Given the description of an element on the screen output the (x, y) to click on. 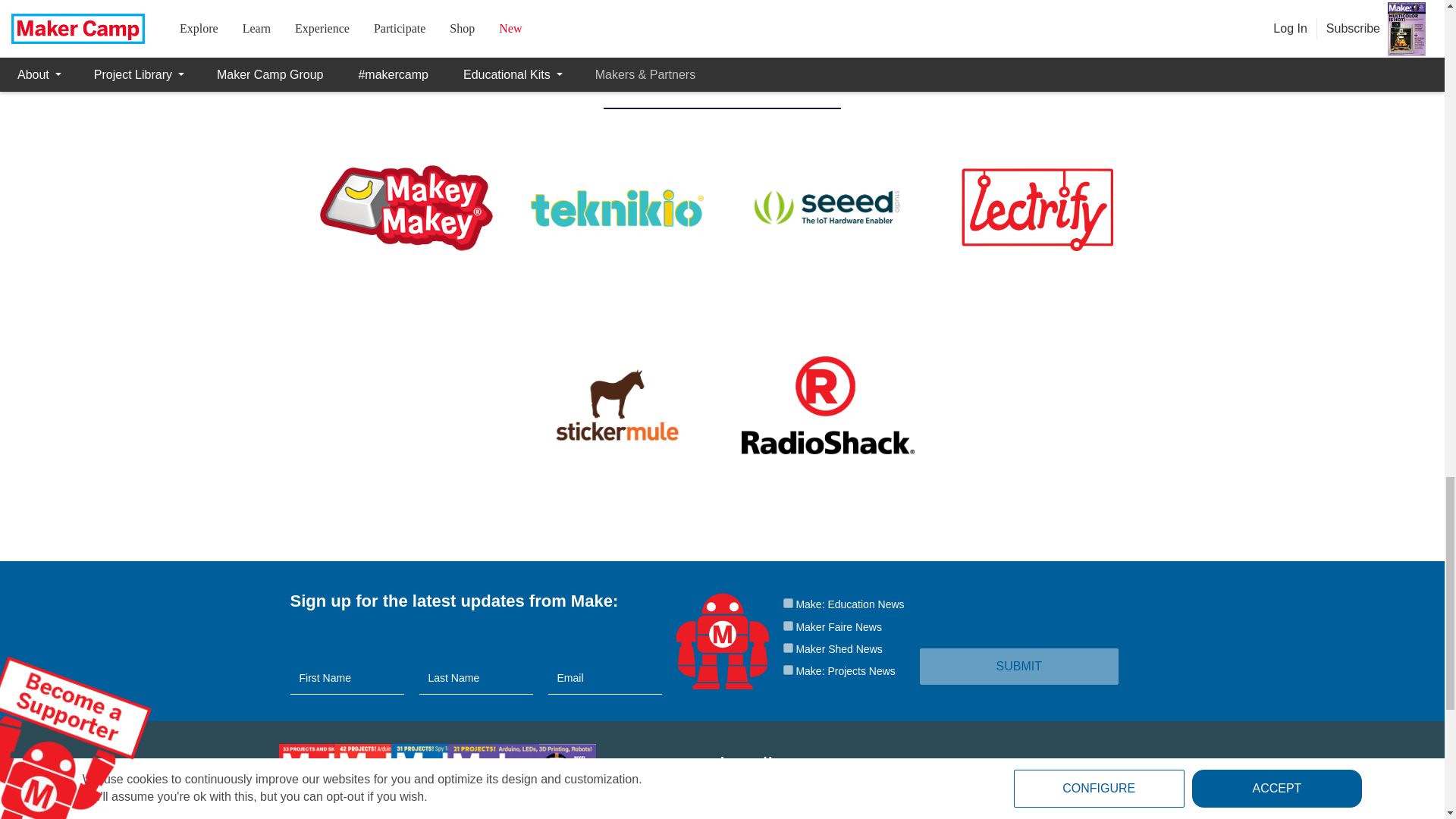
Maker Faire News (787, 625)
Make: Education News (787, 603)
Maker Shed News (787, 647)
Make: Projects News (787, 669)
